Given the description of an element on the screen output the (x, y) to click on. 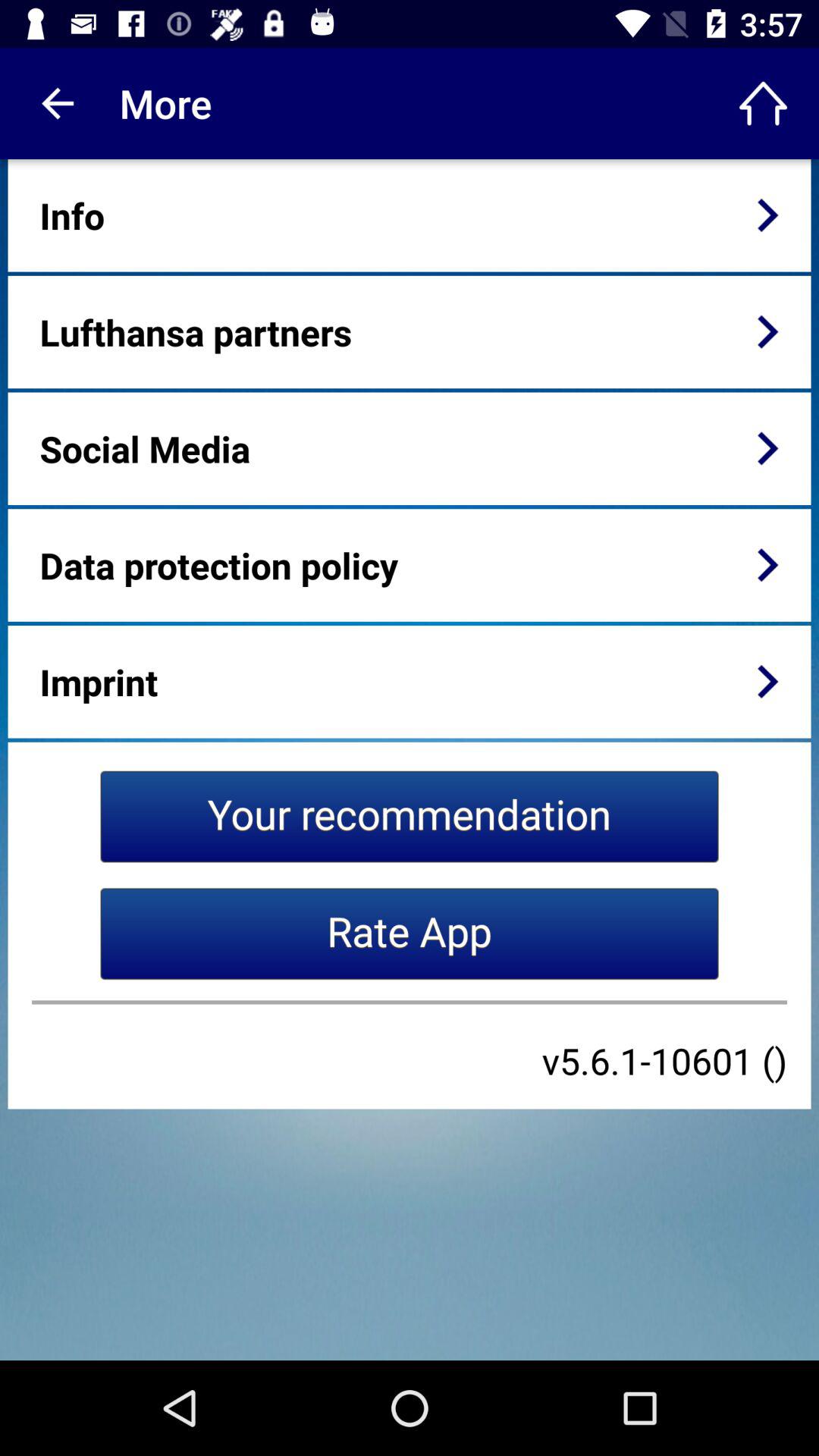
turn on item above v5 6 1 (409, 1002)
